Given the description of an element on the screen output the (x, y) to click on. 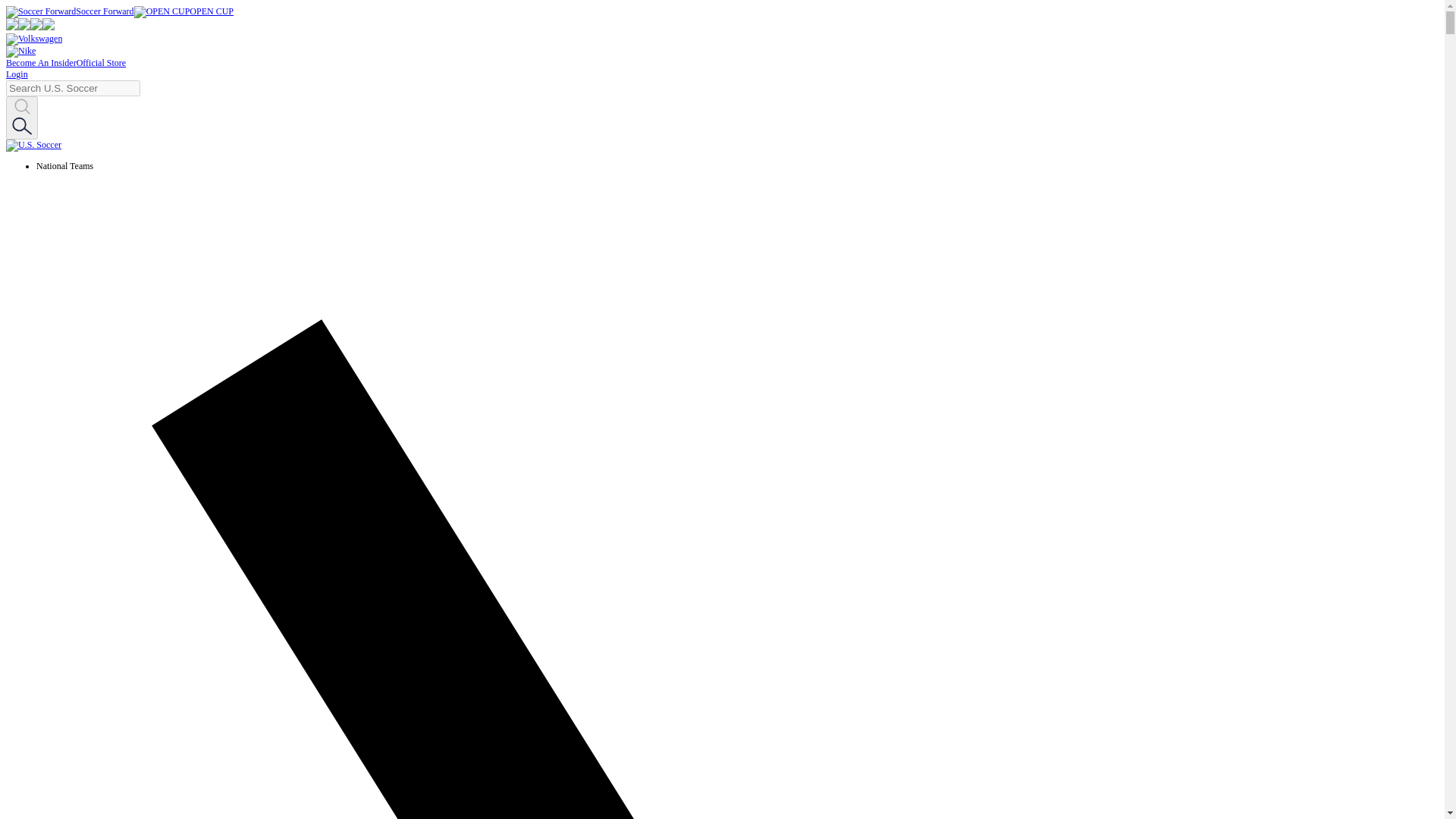
OPEN CUP (182, 10)
Become An Insider (41, 62)
Soccer Forward (69, 10)
Search (21, 107)
Search (21, 127)
Login (16, 73)
Official Store (101, 62)
Search icon (21, 117)
Search icon (21, 126)
